Given the description of an element on the screen output the (x, y) to click on. 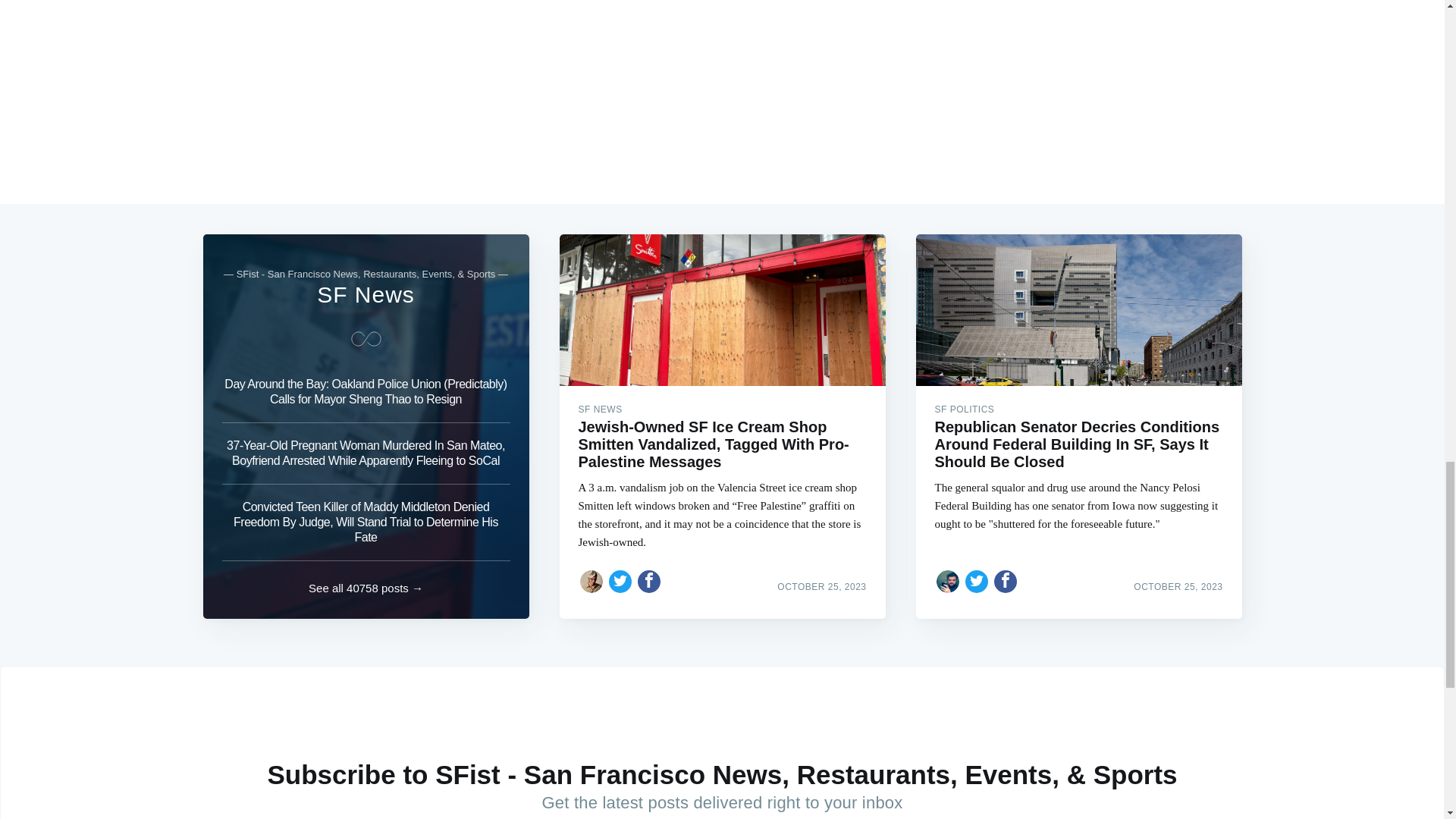
Share on Twitter (620, 581)
Share on Facebook (1004, 581)
Share on Twitter (976, 581)
SF News (365, 294)
Share on Facebook (649, 581)
